Given the description of an element on the screen output the (x, y) to click on. 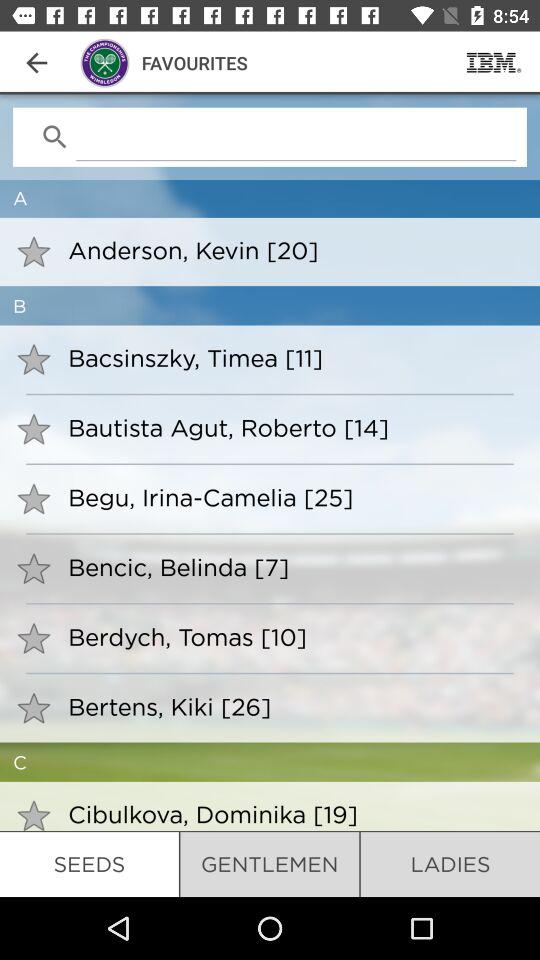
jump until the b (270, 305)
